Given the description of an element on the screen output the (x, y) to click on. 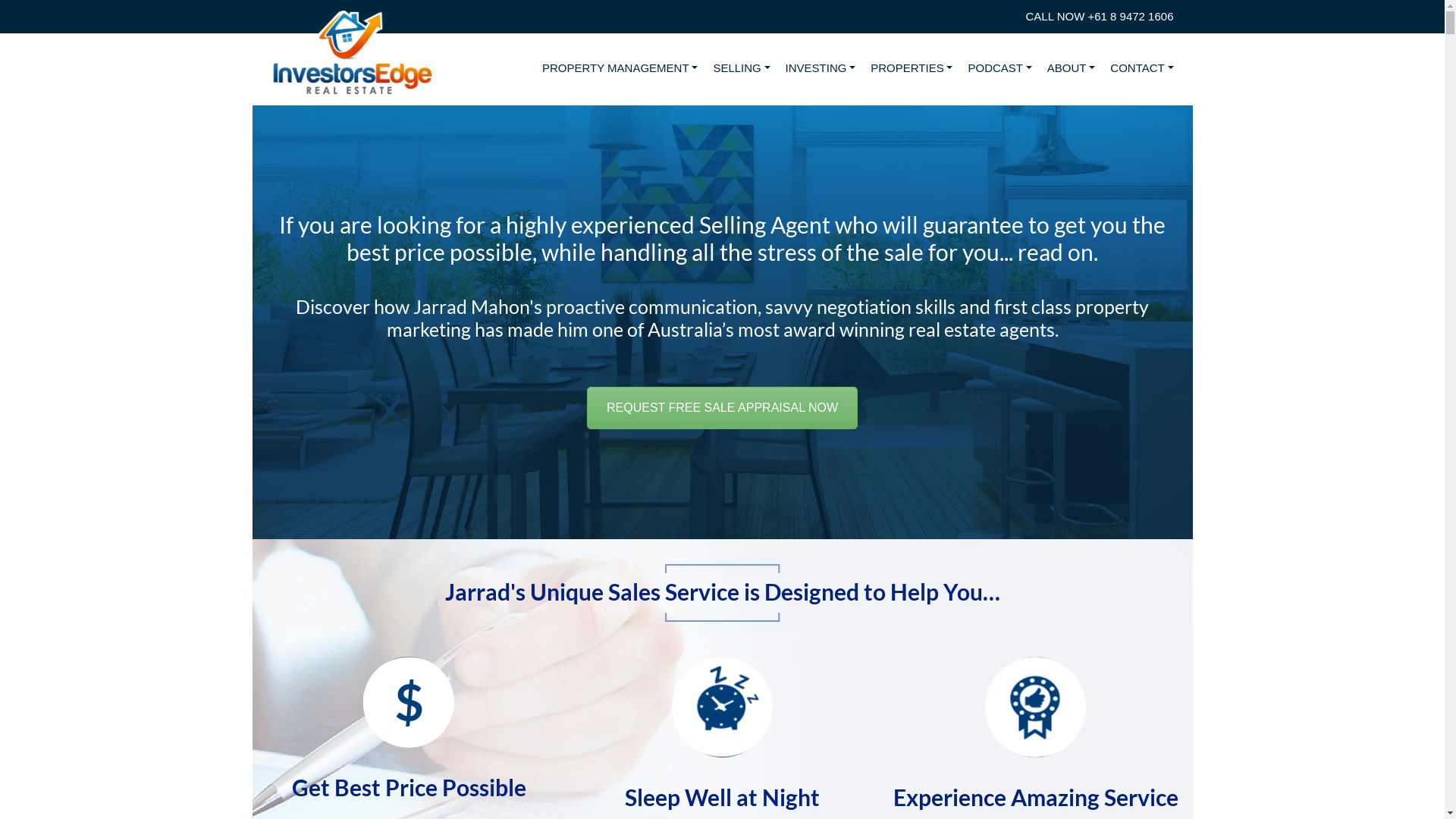
PODCAST Element type: text (999, 68)
bottom Element type: hover (721, 616)
top Element type: hover (721, 568)
clock-icon Element type: hover (721, 706)
PROPERTIES Element type: text (911, 68)
SELLING Element type: text (741, 68)
service-icon Element type: hover (1035, 706)
ABOUT Element type: text (1071, 68)
REQUEST FREE SALE APPRAISAL NOW Element type: text (721, 407)
PROPERTY MANAGEMENT Element type: text (619, 68)
INVESTING Element type: text (820, 68)
CONTACT Element type: text (1141, 68)
CALL NOW +61 8 9472 1606 Element type: text (1098, 16)
marketing-return Element type: hover (408, 701)
